Given the description of an element on the screen output the (x, y) to click on. 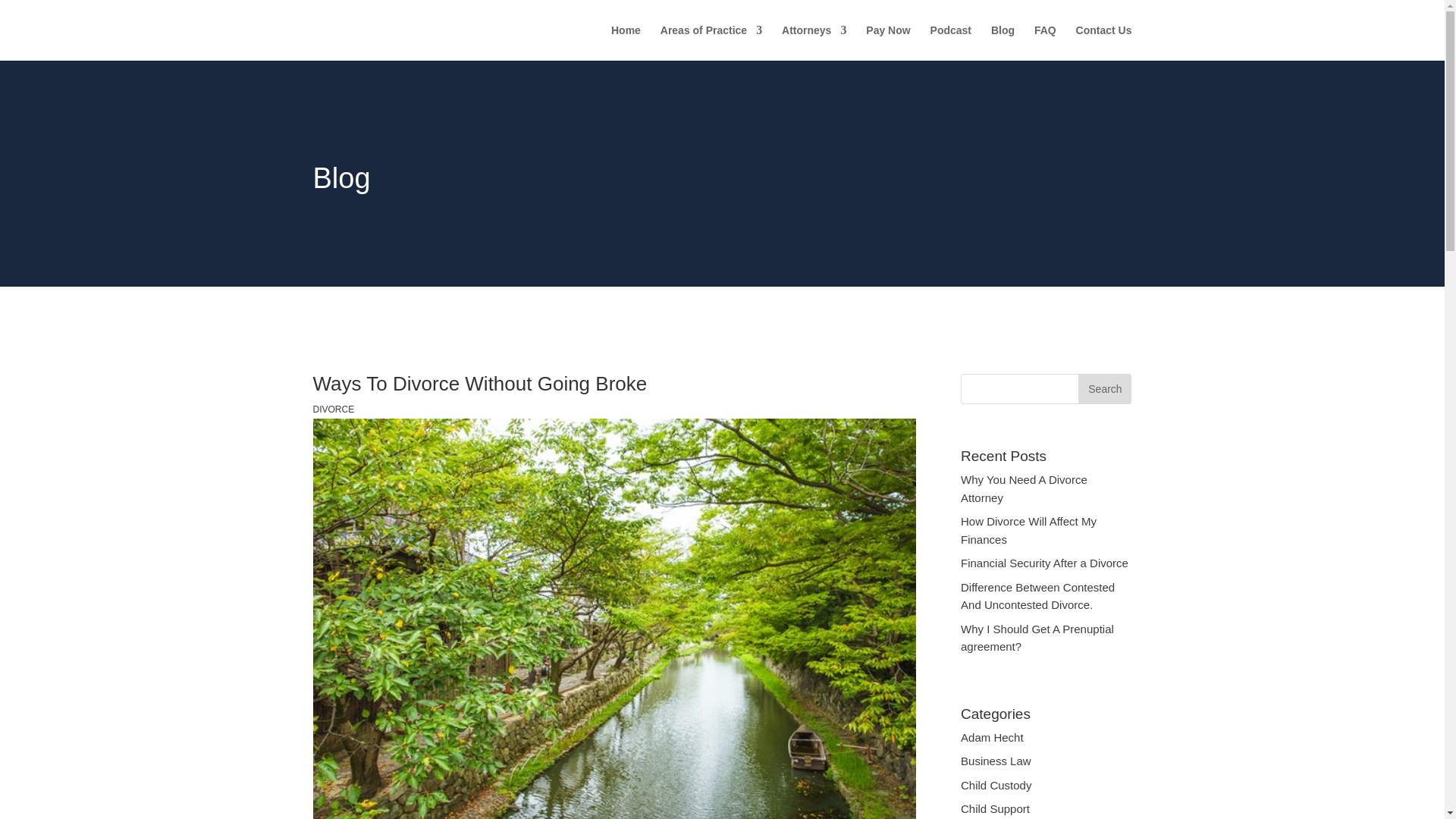
Contact Us (1103, 42)
Pay Now (888, 42)
Search (1104, 388)
Podcast (950, 42)
Attorneys (813, 42)
Areas of Practice (711, 42)
